Given the description of an element on the screen output the (x, y) to click on. 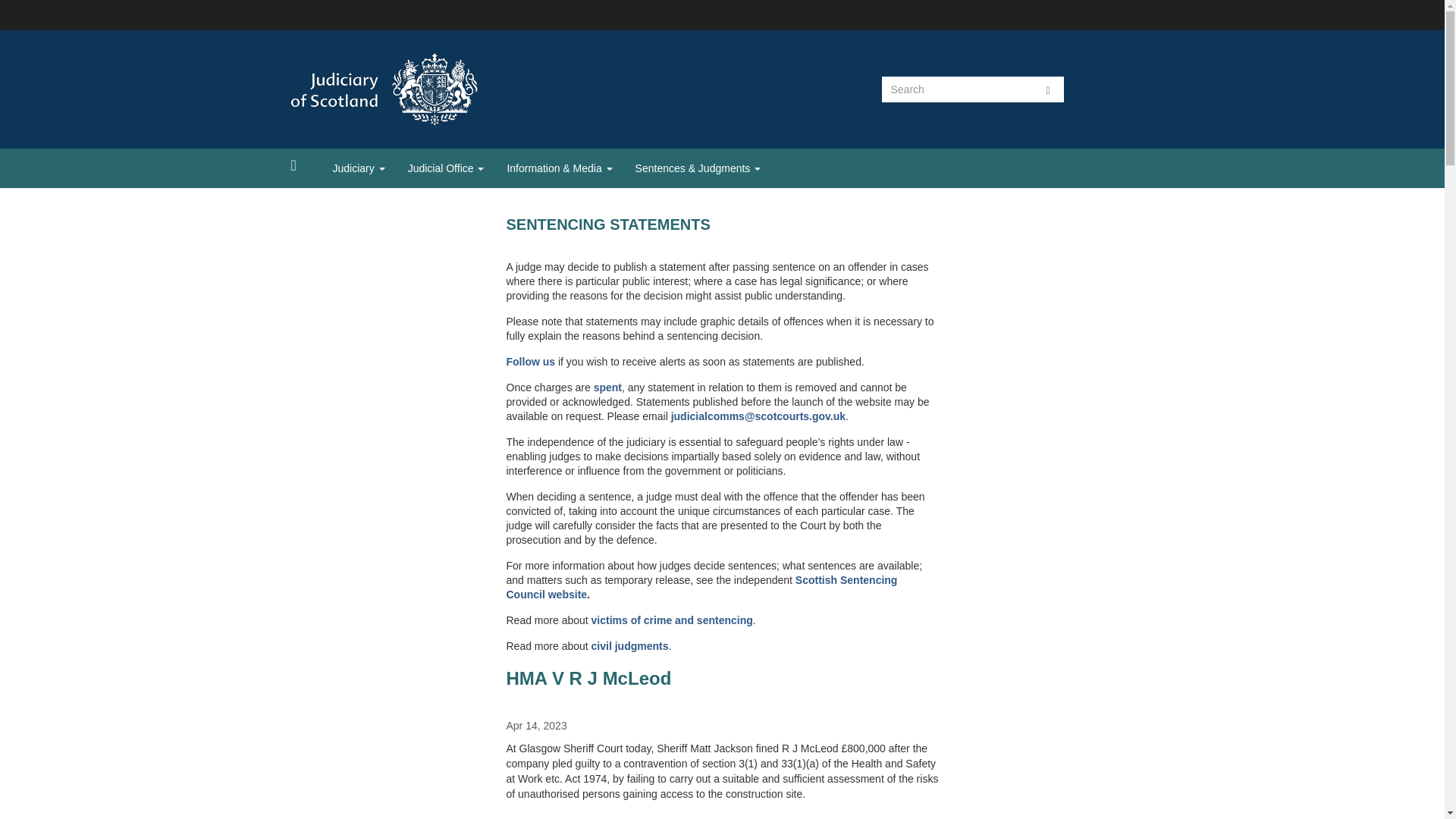
Follow us (531, 361)
website (567, 594)
spent (607, 387)
victims of crime and sentencing (671, 620)
Scottish (817, 580)
JofS-logo-350x96 (421, 89)
Judicial Office (446, 168)
Search input (956, 89)
victims of crime and sentencing (671, 620)
Sentencing Council (702, 587)
Judiciary (358, 168)
Search (1048, 89)
